Given the description of an element on the screen output the (x, y) to click on. 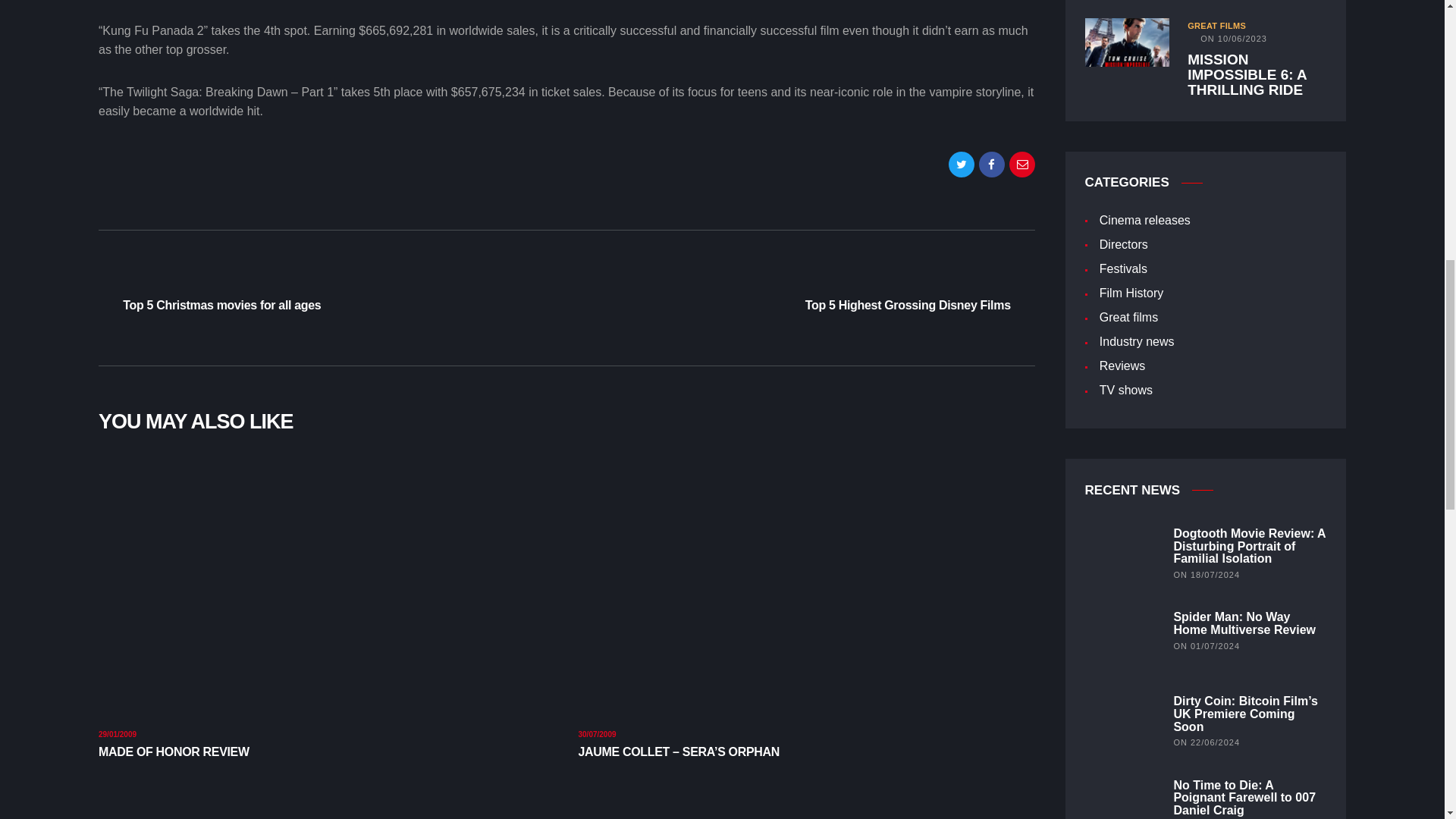
View all posts in Great films (327, 292)
MADE OF HONOR REVIEW (1217, 25)
